Given the description of an element on the screen output the (x, y) to click on. 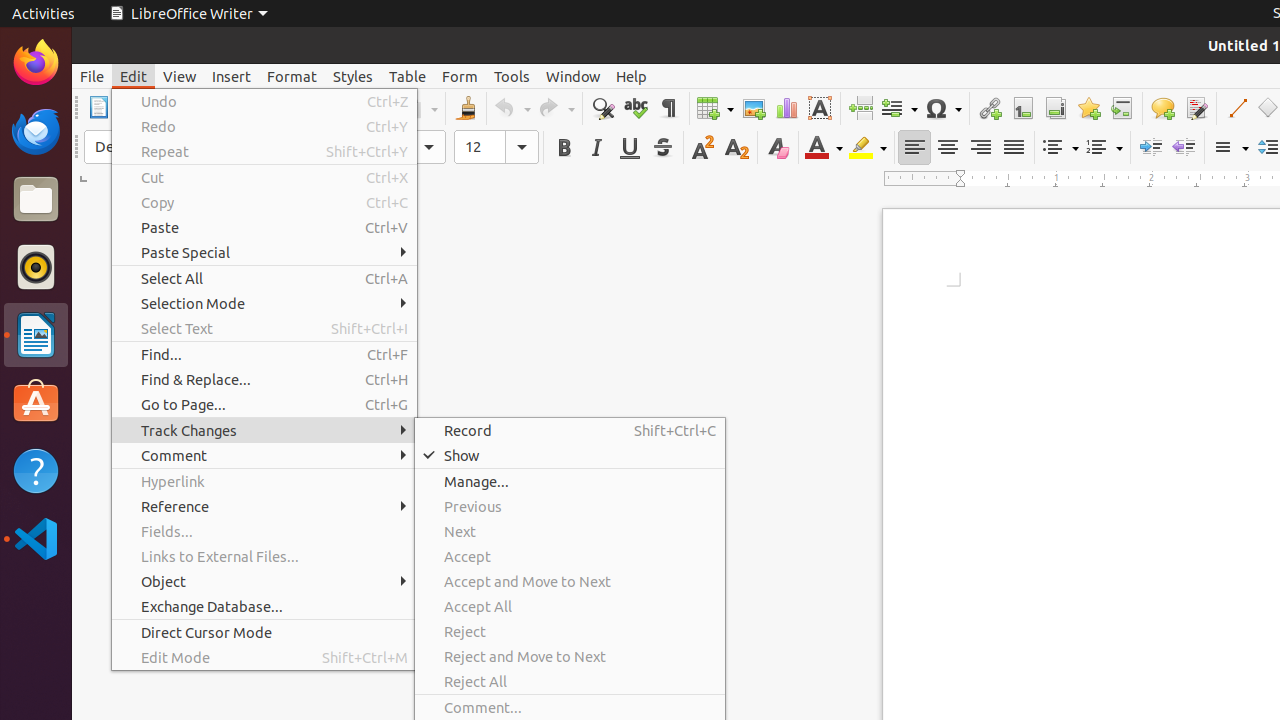
Files Element type: push-button (36, 199)
Insert Element type: menu (231, 76)
Previous Element type: menu-item (570, 506)
Track Changes Element type: menu (264, 430)
Repeat Element type: menu-item (264, 151)
